Given the description of an element on the screen output the (x, y) to click on. 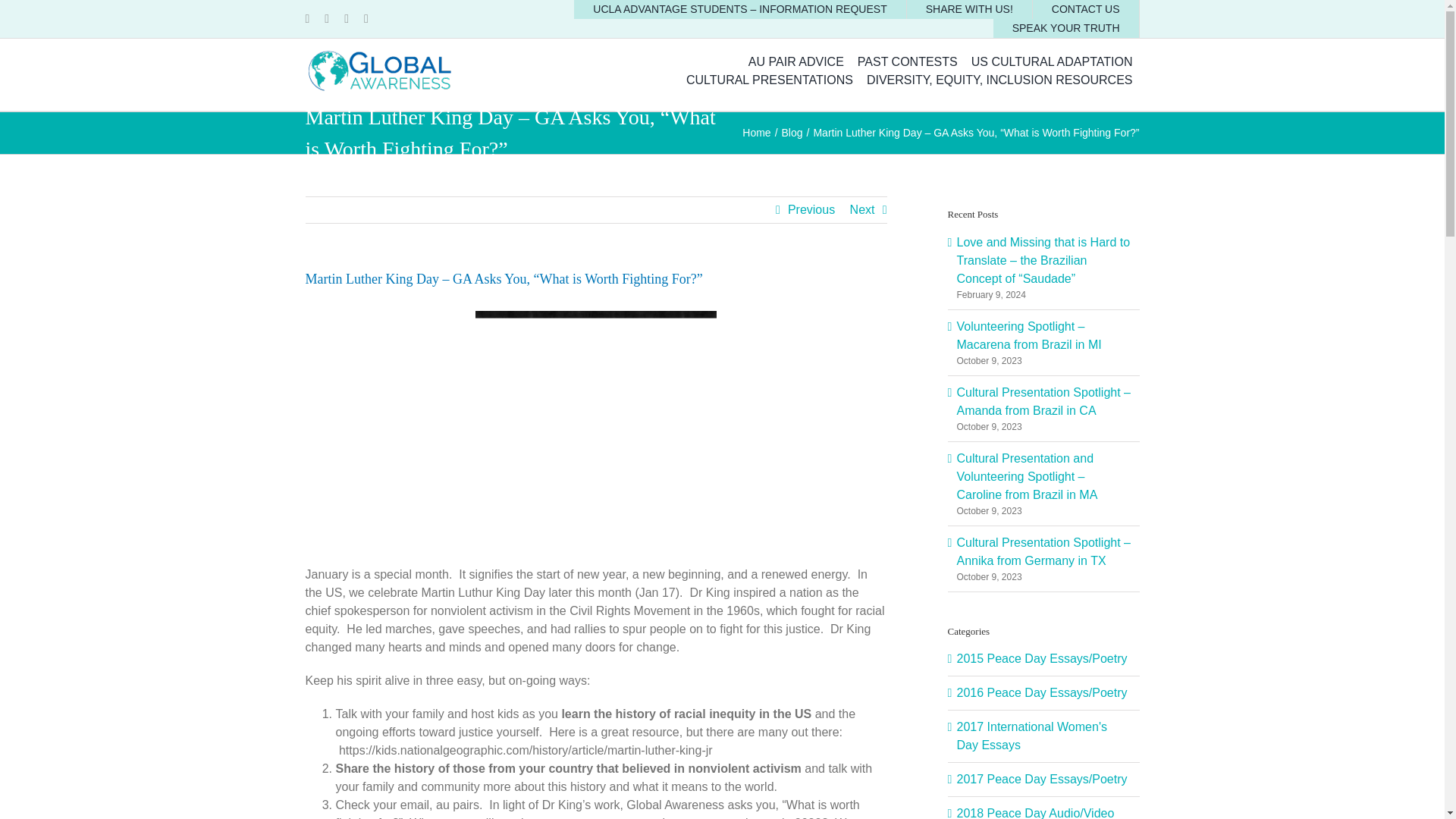
Blog (792, 132)
SPEAK YOUR TRUTH (1066, 27)
SHARE WITH US! (969, 9)
Home (756, 132)
2017 International Women's Day Essays (1044, 736)
CONTACT US (1086, 9)
CULTURAL PRESENTATIONS (769, 80)
US CULTURAL ADAPTATION (1051, 62)
PAST CONTESTS (906, 62)
DIVERSITY, EQUITY, INCLUSION RESOURCES (1000, 80)
